Given the description of an element on the screen output the (x, y) to click on. 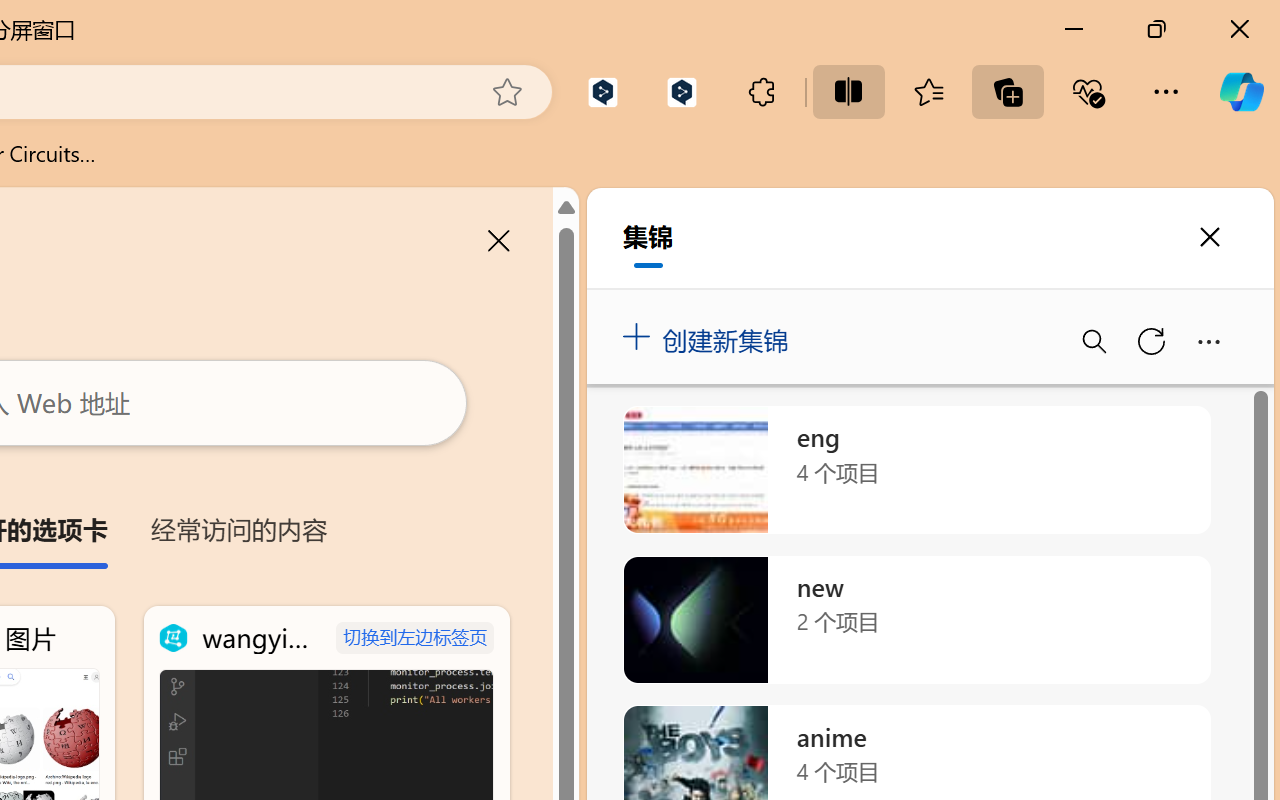
Translator (1260, 245)
